Given the description of an element on the screen output the (x, y) to click on. 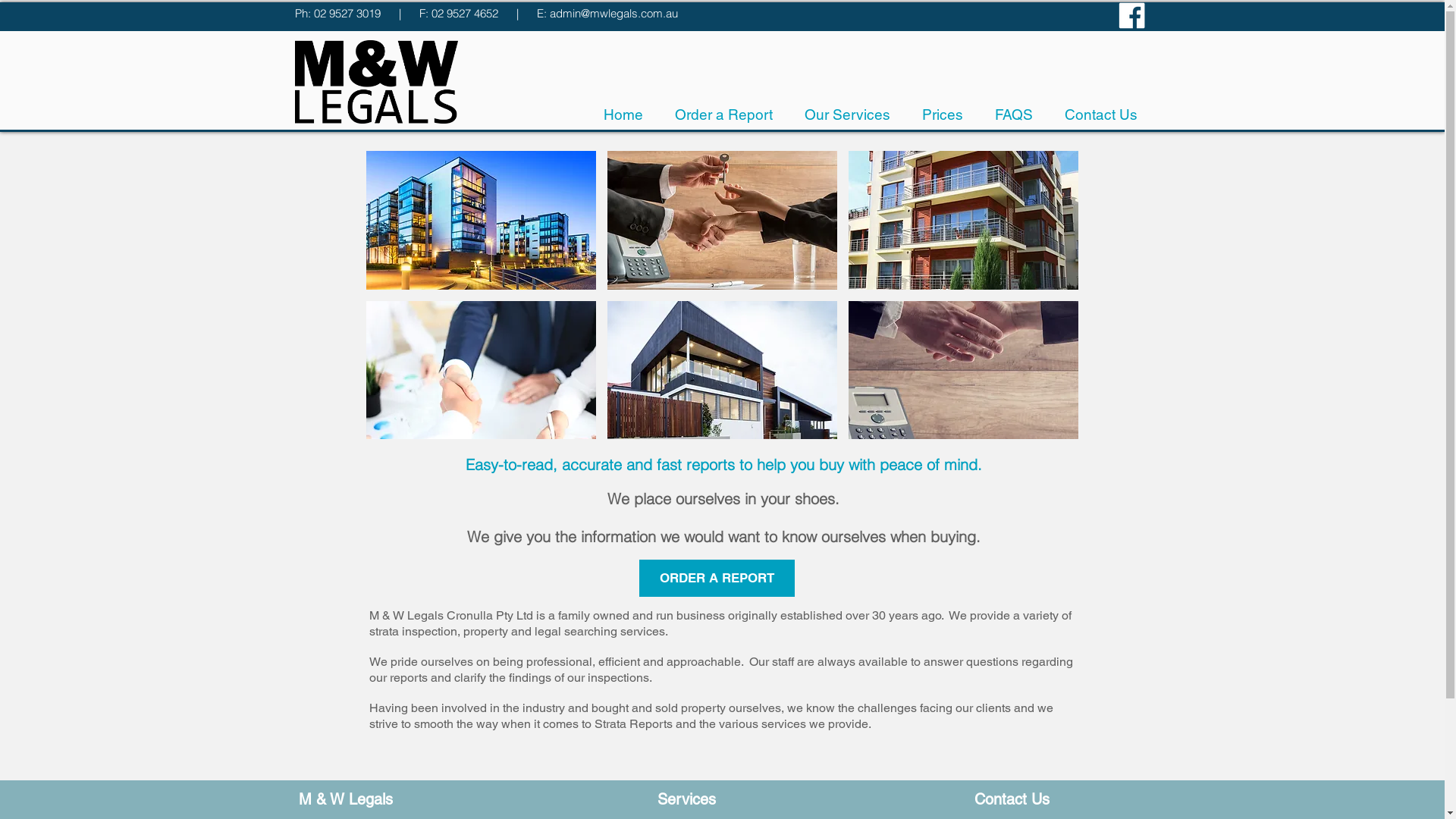
Contact Us Element type: text (1100, 114)
Order a Report Element type: text (722, 114)
ORDER A REPORT Element type: text (715, 577)
FAQS Element type: text (1013, 114)
admin@mwlegals.com.au Element type: text (613, 13)
Our Services Element type: text (847, 114)
Prices Element type: text (941, 114)
Home Element type: text (622, 114)
M&W-Legals-Black-on-White.gif Element type: hover (375, 81)
